Given the description of an element on the screen output the (x, y) to click on. 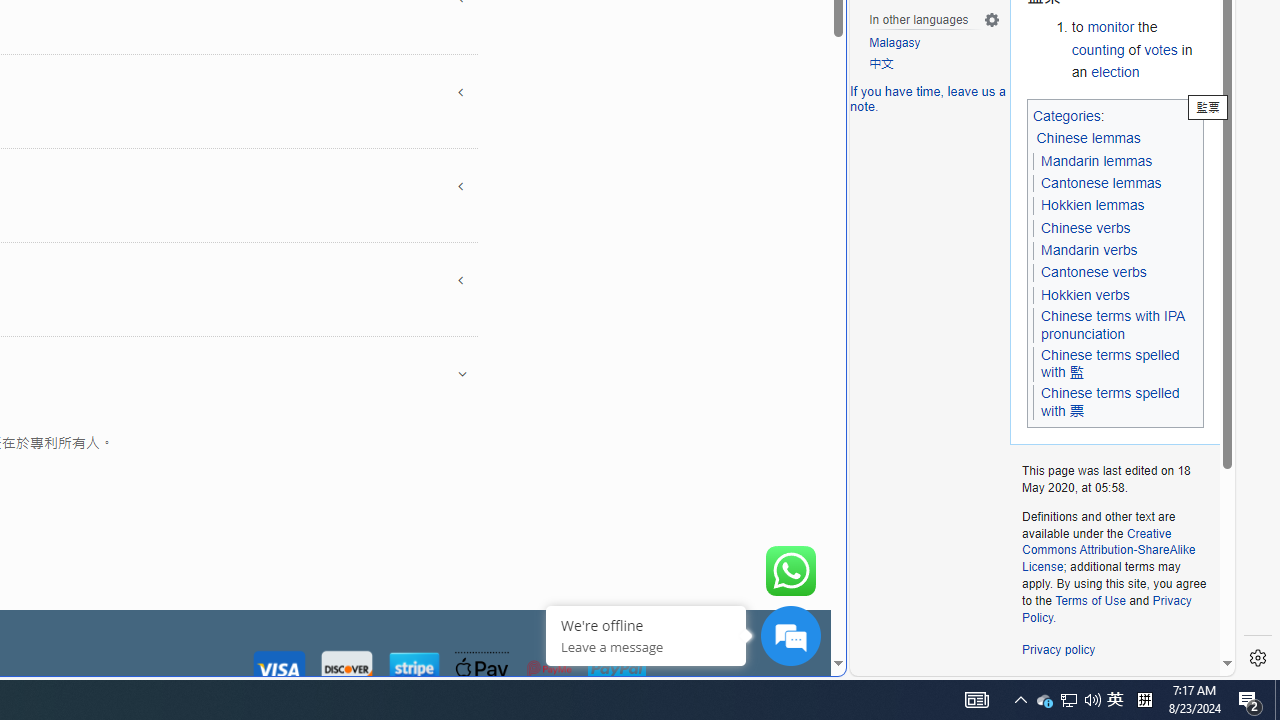
Chinese verbs (1084, 228)
Chinese lemmas (1087, 138)
Privacy Policy. (1106, 608)
Hokkien verbs (1084, 295)
Categories (1066, 115)
Privacy policy (1058, 650)
Chinese verbs (1085, 227)
Mandarin lemmas (1095, 161)
This page was last edited on 18 May 2020, at 05:58. (1114, 480)
